Given the description of an element on the screen output the (x, y) to click on. 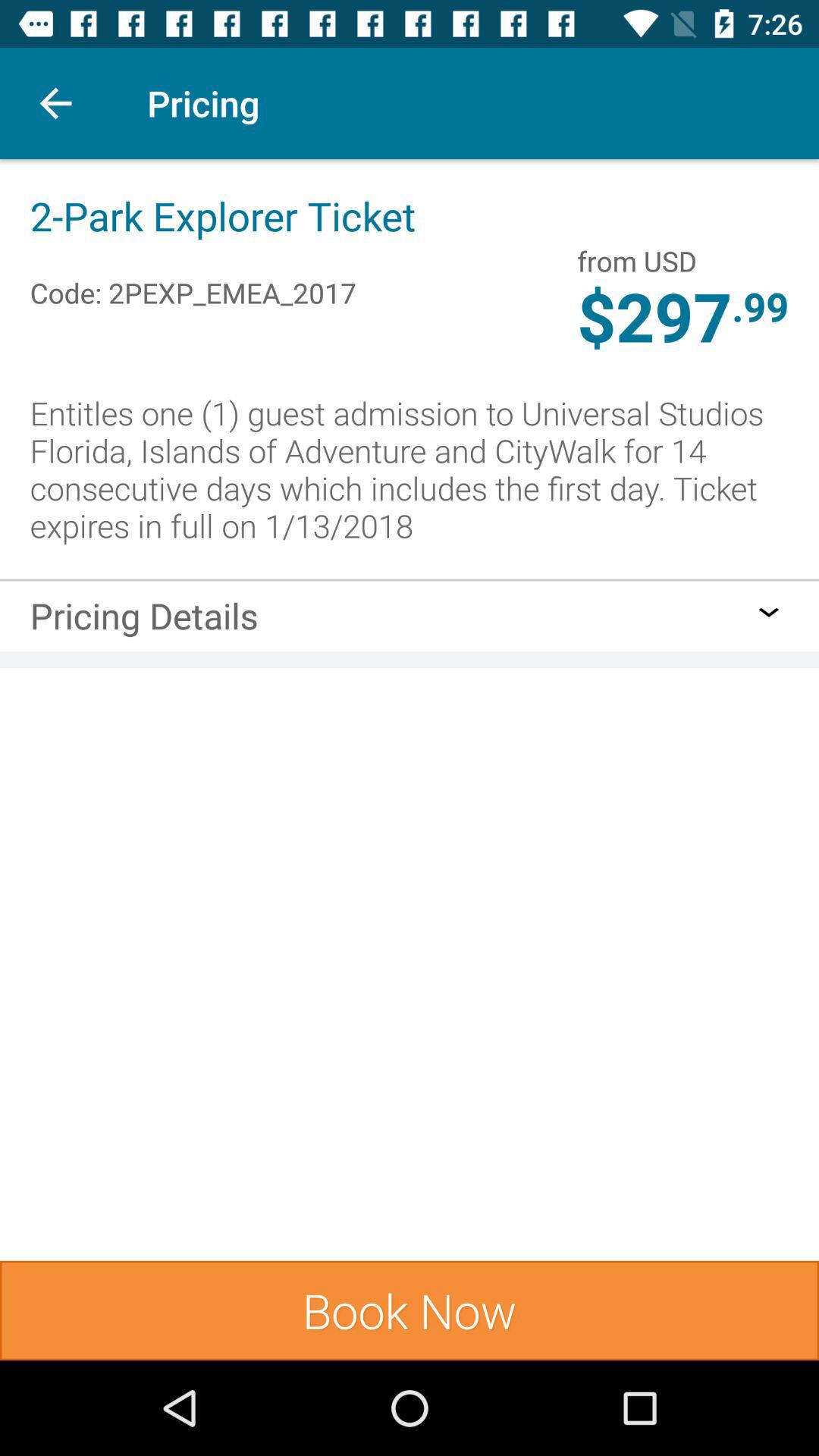
press icon above 2 park explorer (55, 103)
